Given the description of an element on the screen output the (x, y) to click on. 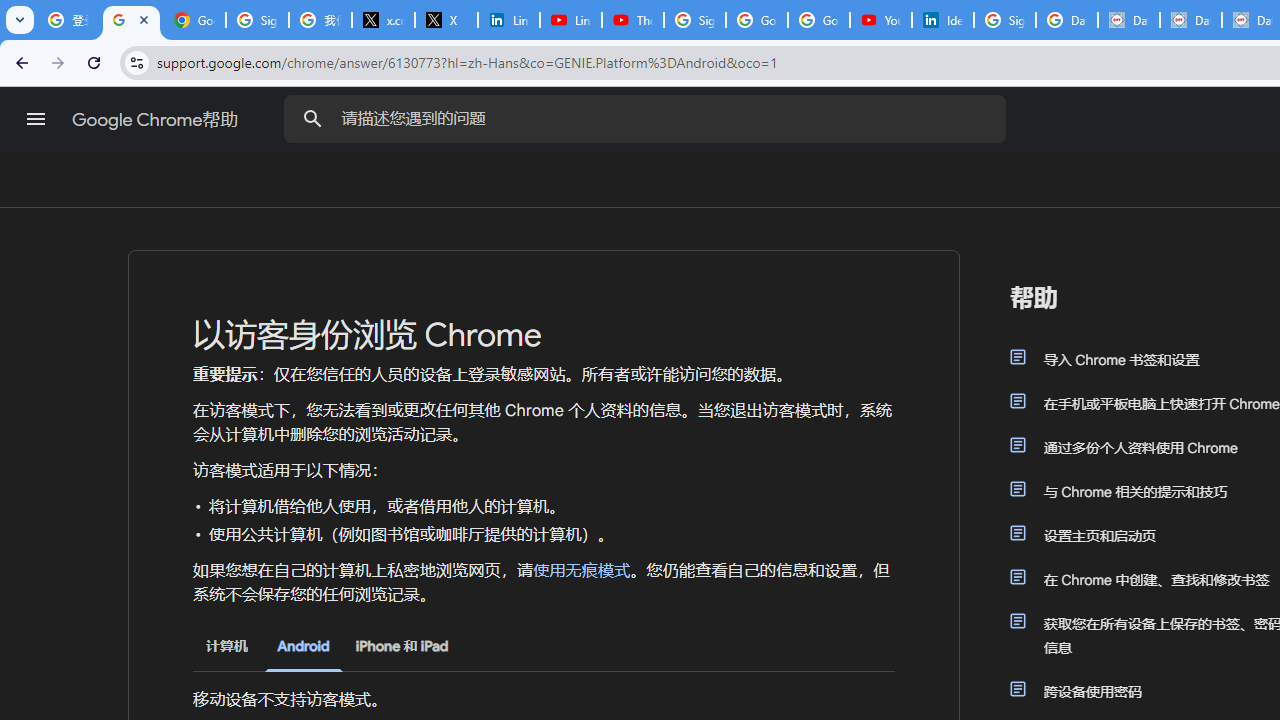
X (445, 20)
LinkedIn - YouTube (570, 20)
LinkedIn Privacy Policy (508, 20)
